Given the description of an element on the screen output the (x, y) to click on. 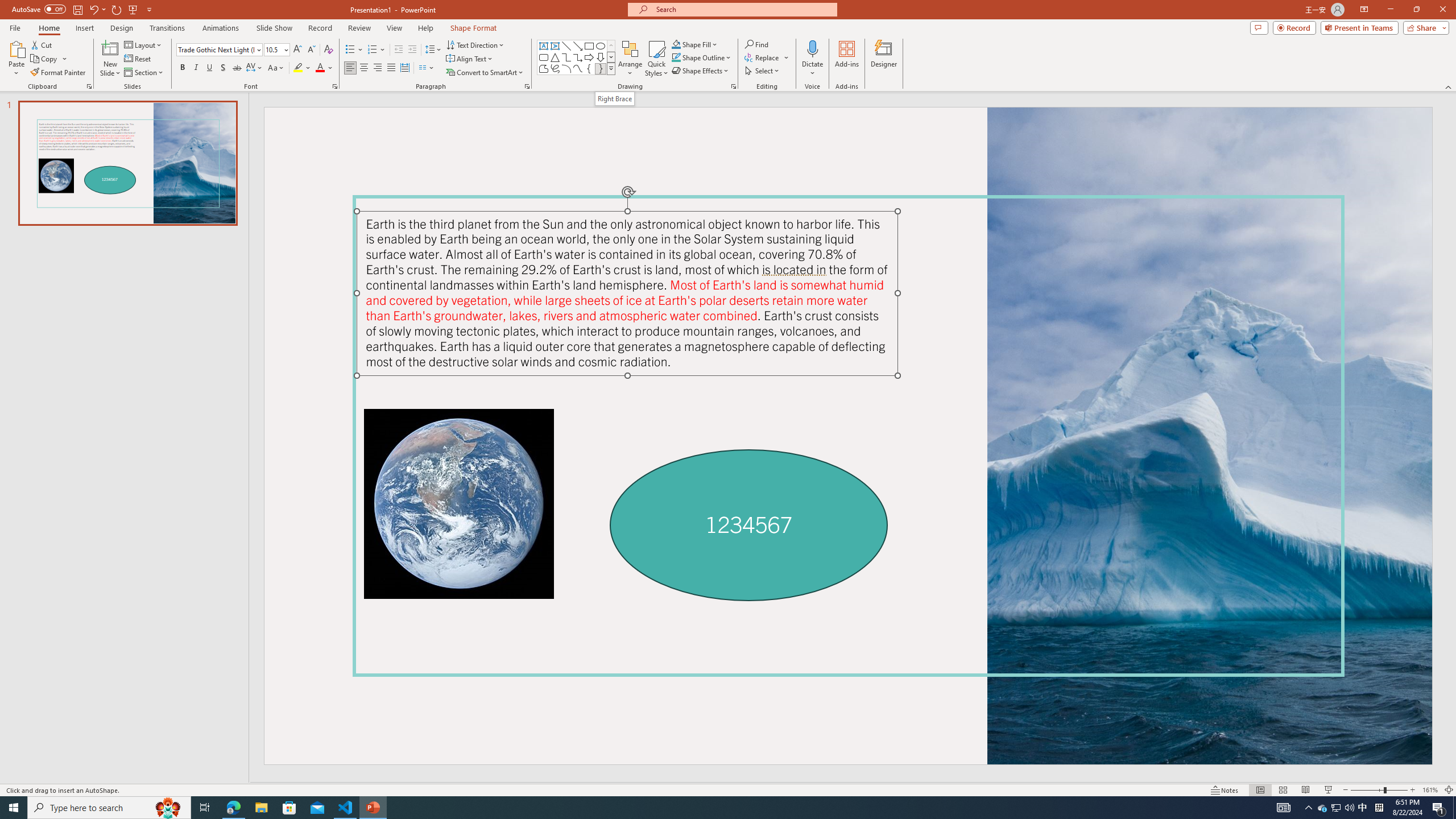
Shape Effects (700, 69)
